Given the description of an element on the screen output the (x, y) to click on. 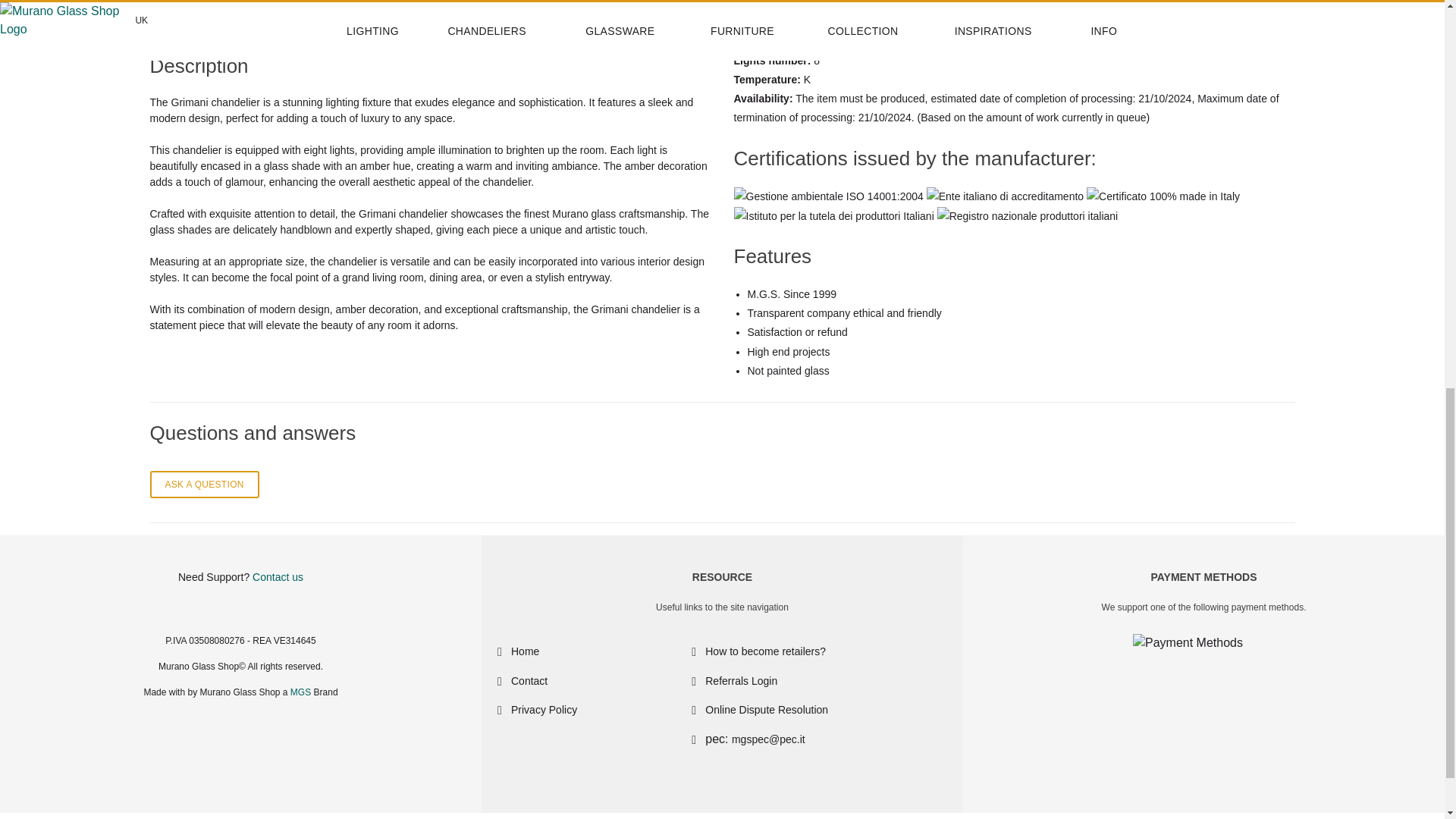
Ente italiano di accreditamento (1004, 196)
Gestione ambientale ISO 14001:2004 (828, 196)
Registro nazionale produttori italiani (1027, 216)
Istituto per la tutela dei produttori Italiani (833, 216)
